Given the description of an element on the screen output the (x, y) to click on. 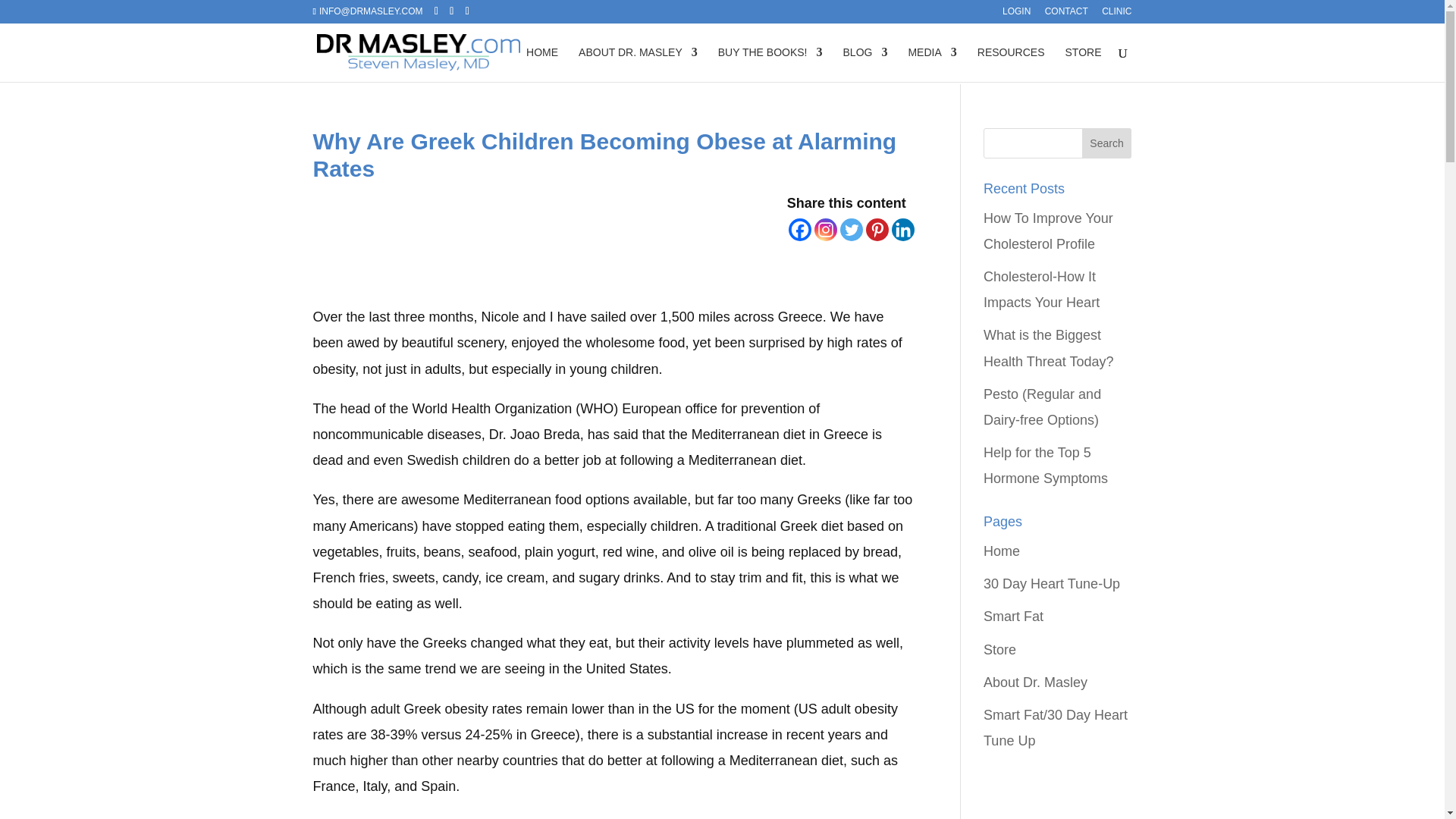
CONTACT (1066, 14)
Facebook (799, 229)
Clinic (1116, 14)
Member Login (1016, 14)
ABOUT DR. MASLEY (637, 63)
LOGIN (1016, 14)
CLINIC (1116, 14)
BLOG (865, 63)
Search (1106, 142)
RESOURCES (1010, 63)
Twitter (851, 229)
Linkedin (902, 229)
Pinterest (877, 229)
MEDIA (931, 63)
HOME (541, 63)
